Given the description of an element on the screen output the (x, y) to click on. 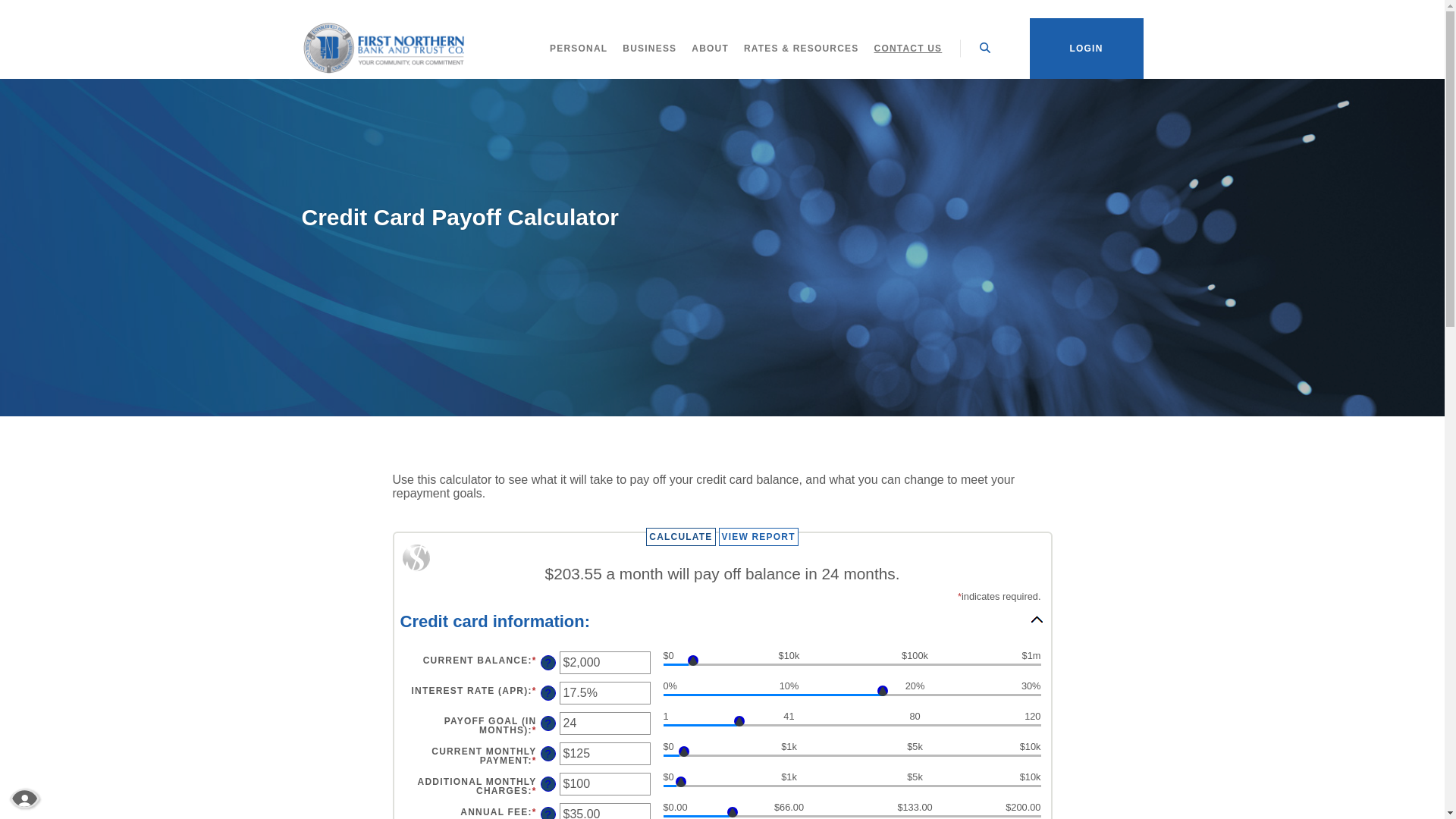
First Northern Bank and Trust, Palmerton, PA Element type: hover (382, 48)
? Element type: text (547, 723)
CONTACT US Element type: text (908, 48)
? Element type: text (547, 783)
Current monthly payment slider Element type: hover (851, 757)
? Element type: text (547, 692)
Additional monthly charges slider Element type: hover (851, 787)
Current balance slider Element type: hover (851, 666)
? Element type: text (547, 753)
Payoff goal (in months) slider Element type: hover (851, 727)
? Element type: text (547, 662)
Interest rate (APR) slider Element type: hover (851, 696)
LOGIN Element type: text (1086, 48)
